Given the description of an element on the screen output the (x, y) to click on. 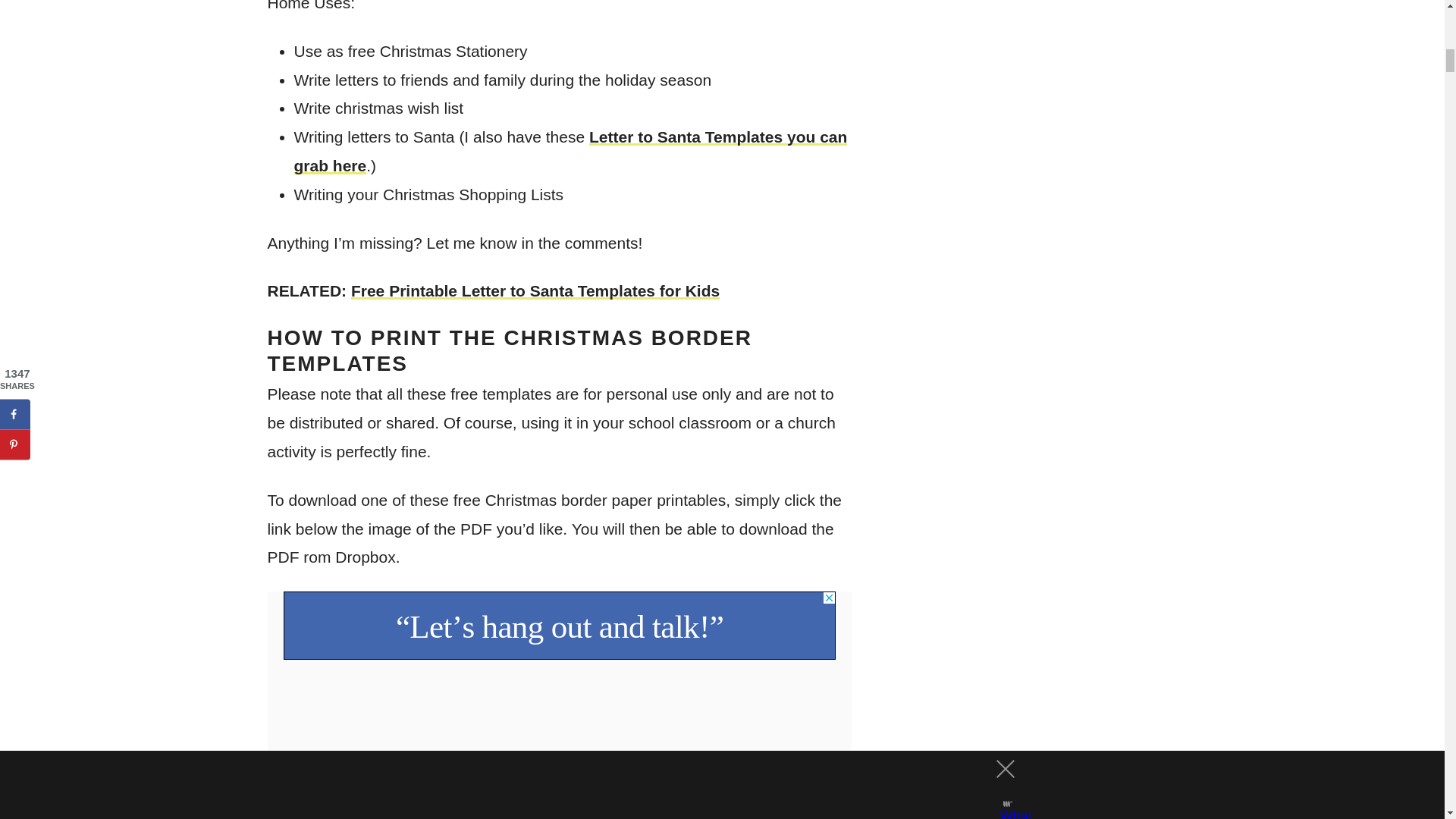
3rd party ad content (559, 625)
